Given the description of an element on the screen output the (x, y) to click on. 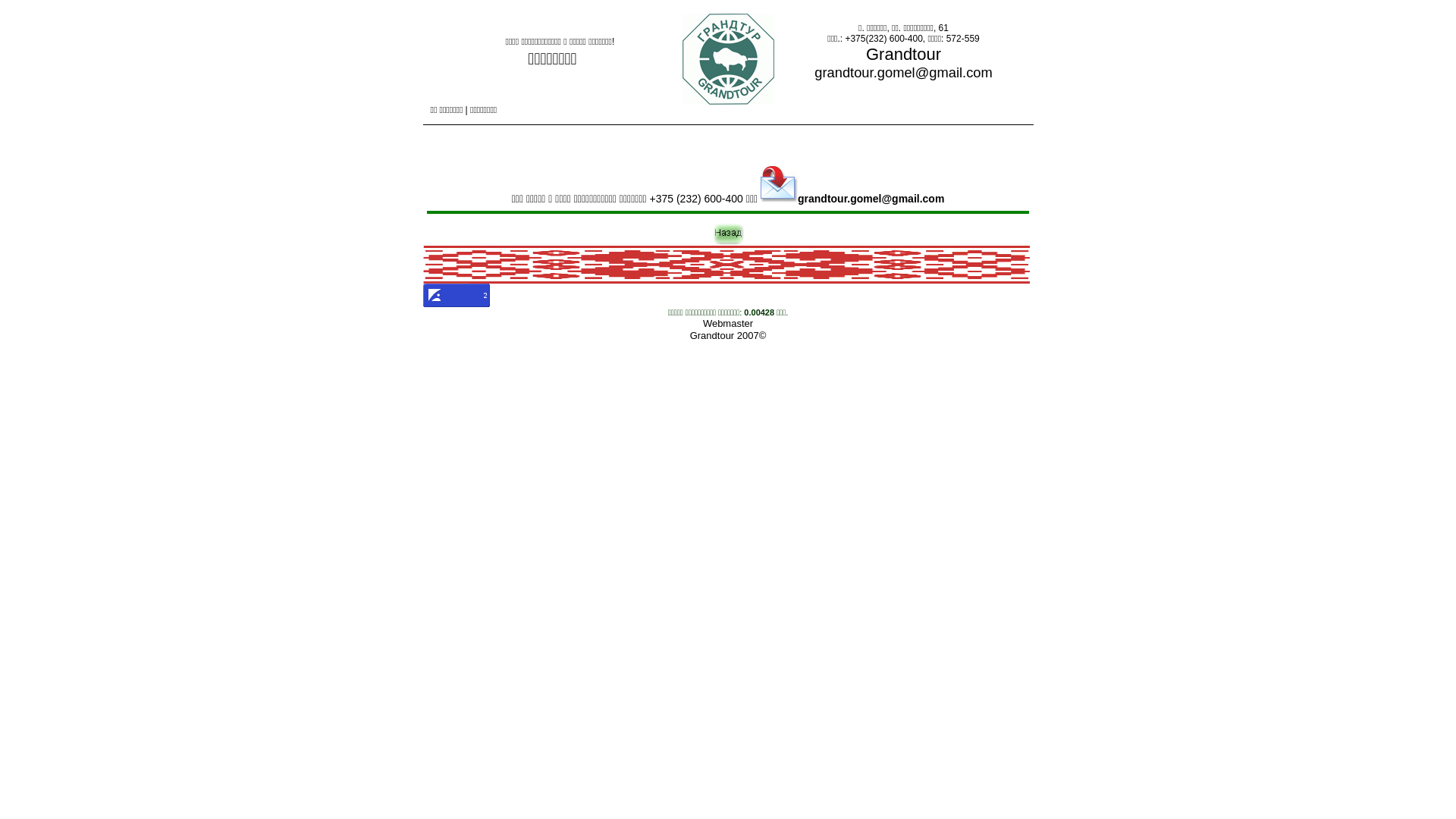
Webmaster Element type: text (727, 323)
grandtour.gomel@gmail.com Element type: text (852, 198)
